Given the description of an element on the screen output the (x, y) to click on. 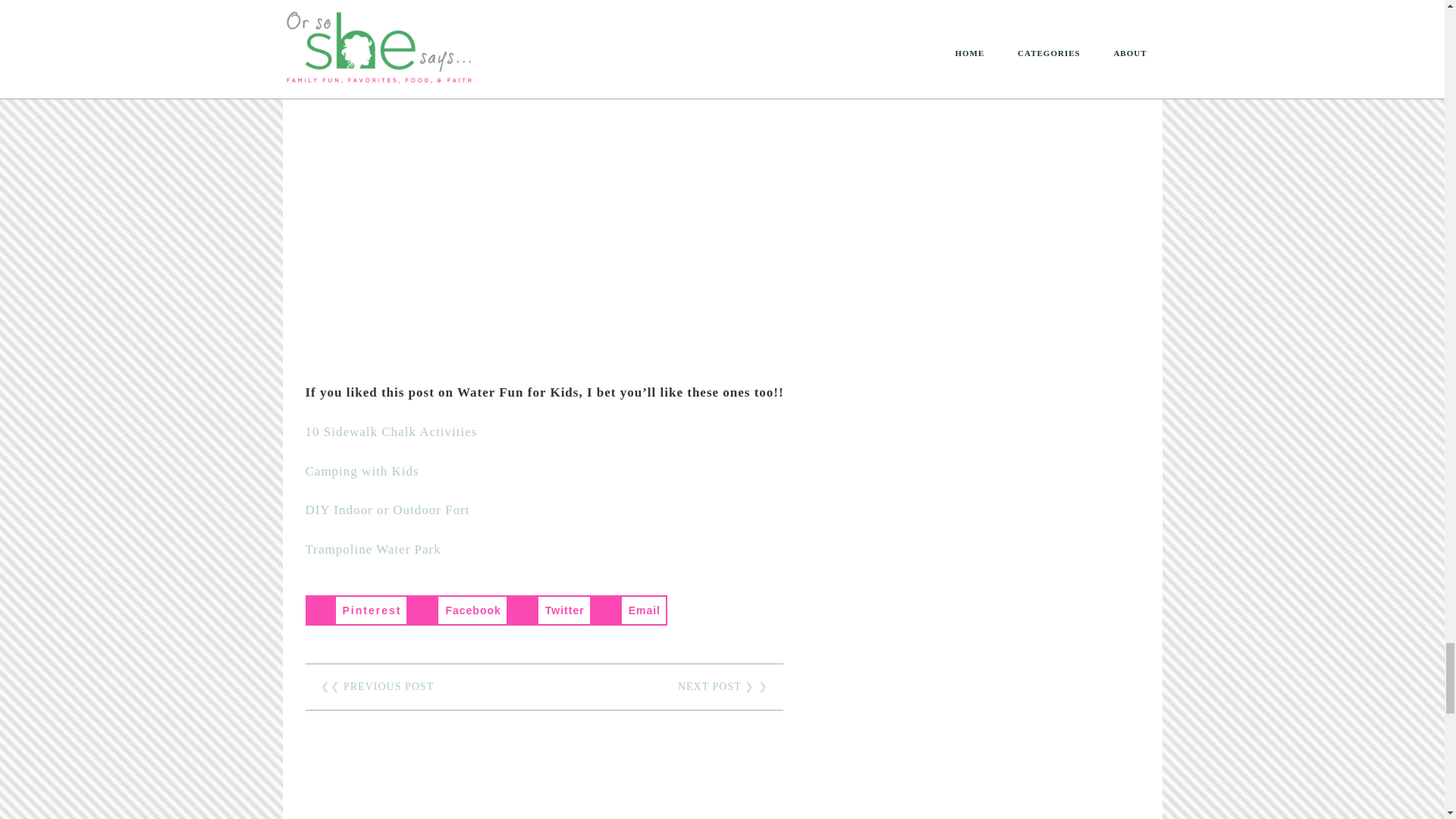
Save to Pinterest (355, 610)
Share on X (549, 610)
Share on Facebook (456, 610)
Send over email (628, 610)
